Given the description of an element on the screen output the (x, y) to click on. 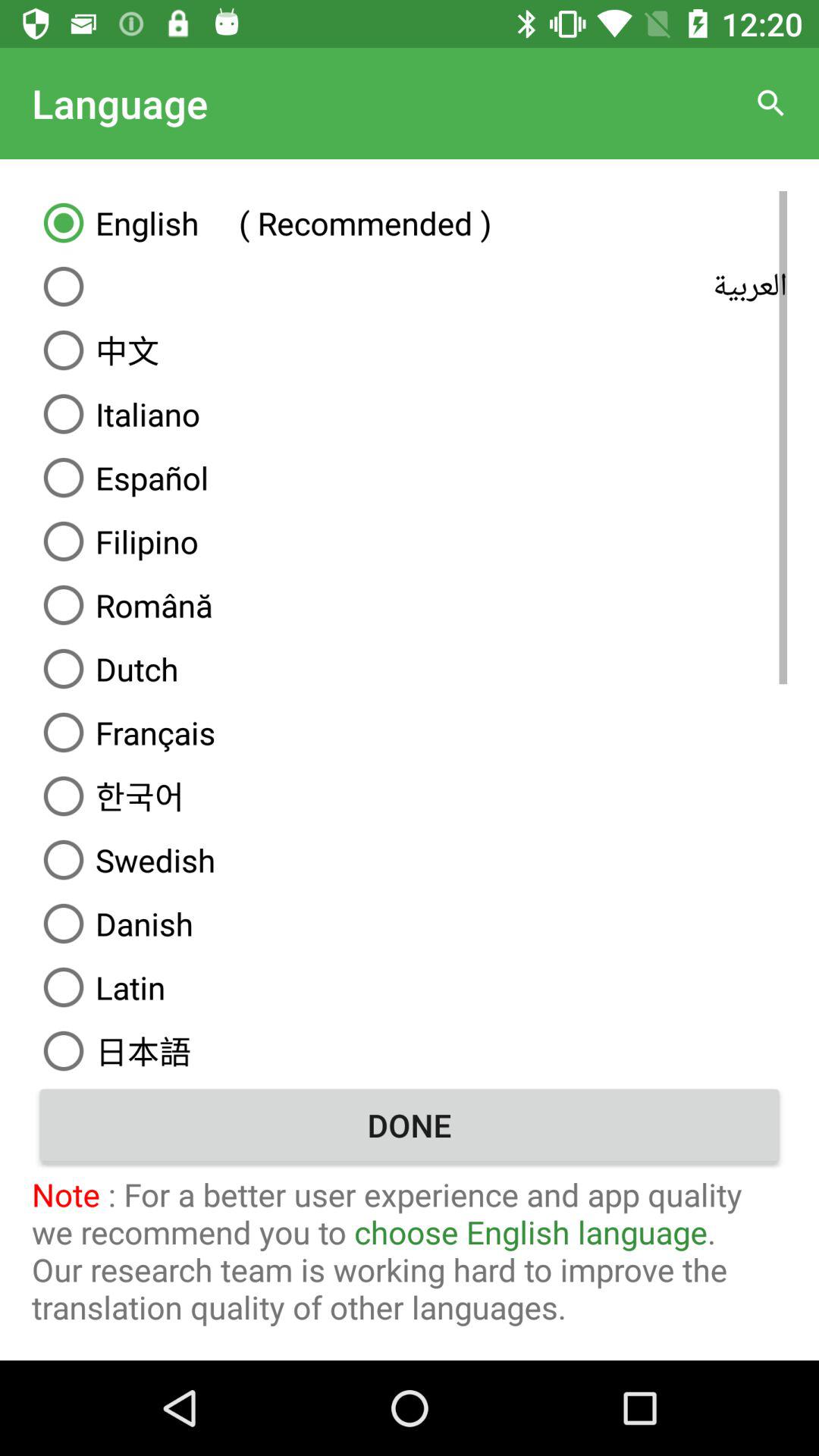
tap the icon below latin icon (409, 1048)
